Given the description of an element on the screen output the (x, y) to click on. 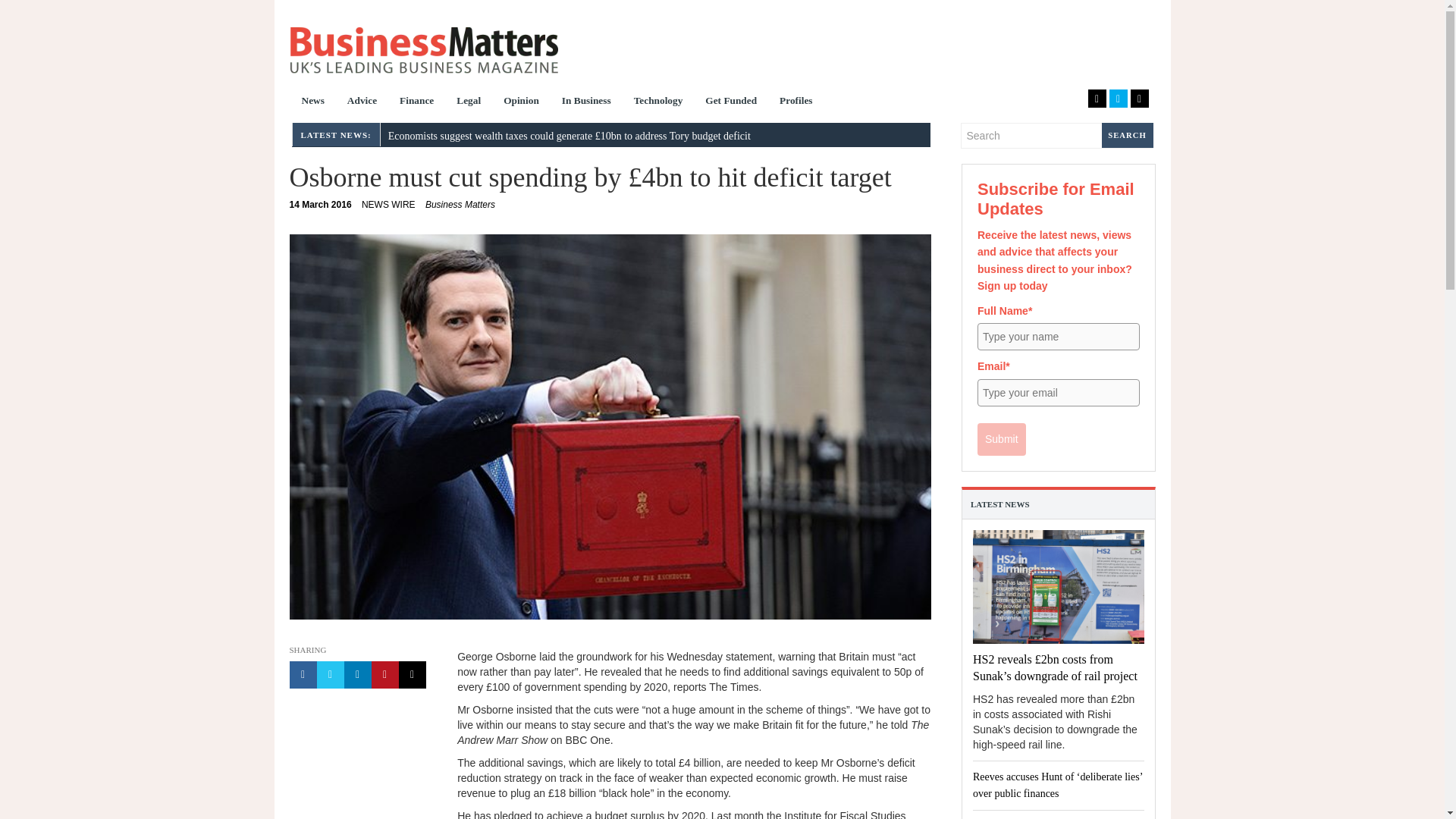
Profiles (796, 101)
Legal (468, 101)
Opinion (521, 101)
Advice (362, 101)
Finance (416, 101)
News (311, 101)
Business Matters (460, 204)
Get Funded (731, 101)
In Business (320, 204)
Business Matters (586, 101)
NEWS WIRE (423, 50)
Technology (387, 204)
